Given the description of an element on the screen output the (x, y) to click on. 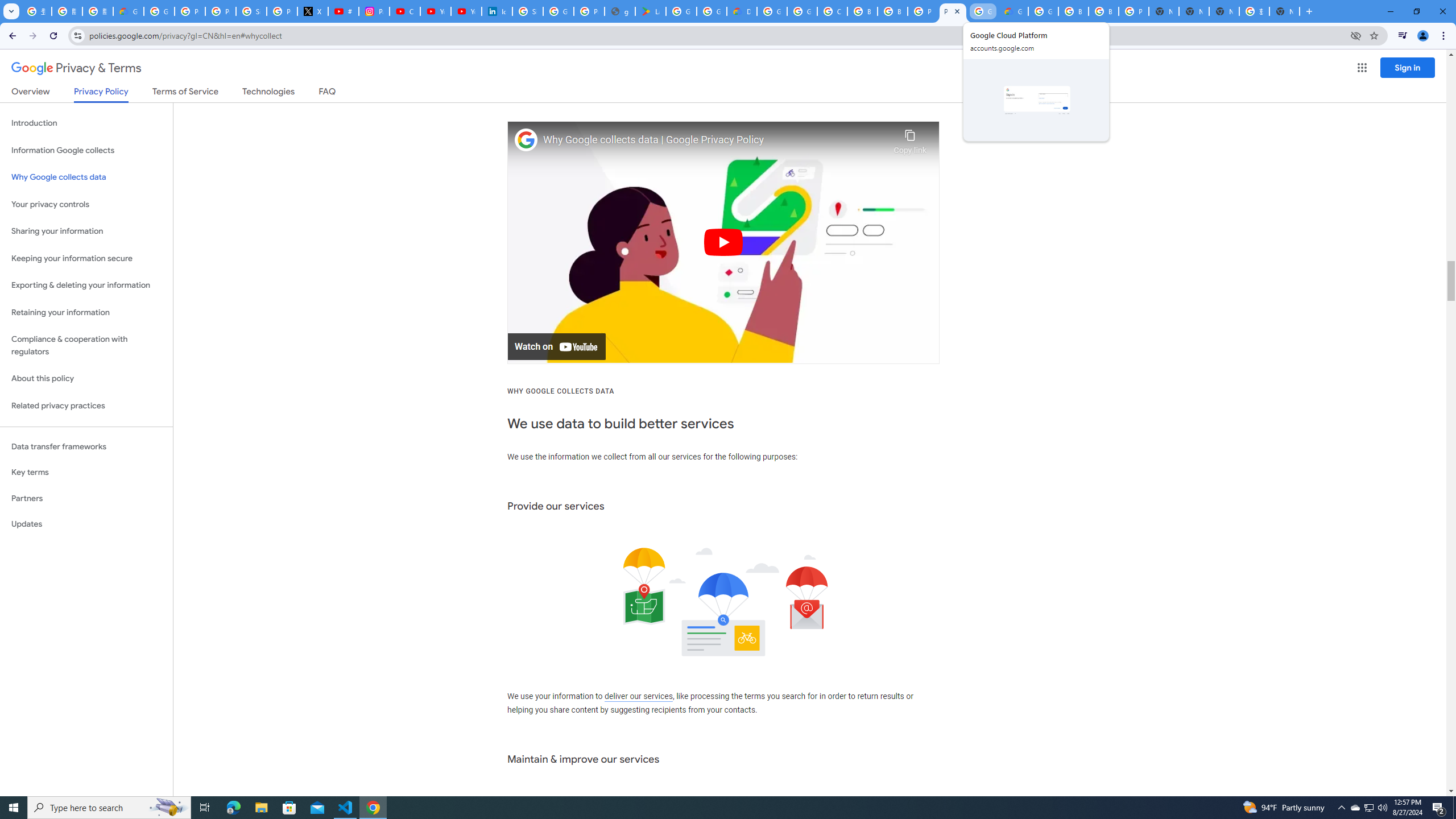
#nbabasketballhighlights - YouTube (343, 11)
YouTube Culture & Trends - YouTube Top 10, 2021 (465, 11)
Related privacy practices (86, 405)
Your privacy controls (86, 204)
Overview (30, 93)
Key terms (86, 472)
Terms of Service (184, 93)
Information Google collects (86, 150)
Compliance & cooperation with regulators (86, 345)
